Given the description of an element on the screen output the (x, y) to click on. 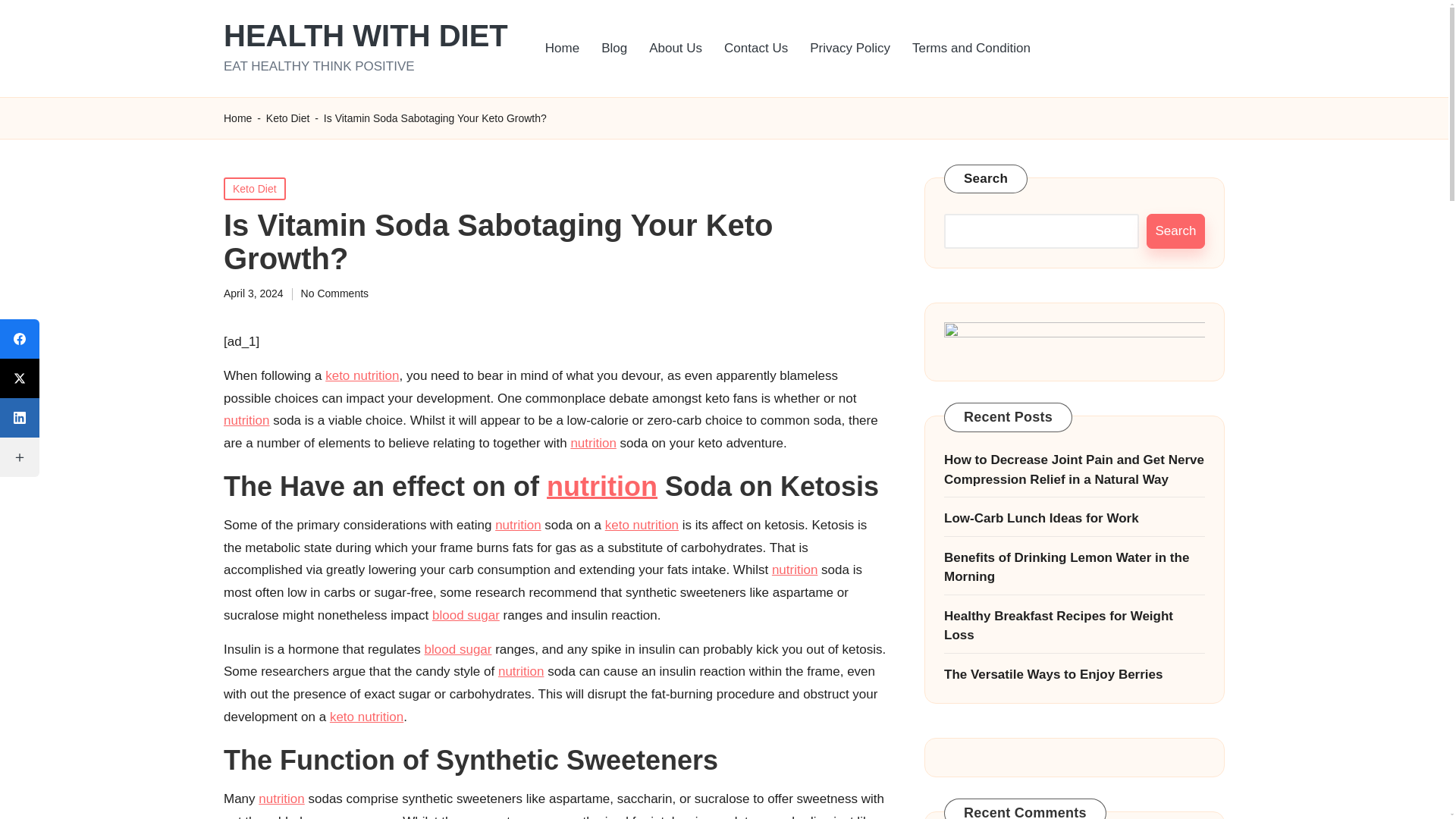
nutrition (281, 798)
HEALTH WITH DIET (366, 35)
nutrition (520, 671)
nutrition (793, 569)
nutrition (246, 420)
nutrition (517, 524)
nutrition (602, 486)
Blog (614, 48)
Contact Us (755, 48)
nutrition (592, 442)
